Given the description of an element on the screen output the (x, y) to click on. 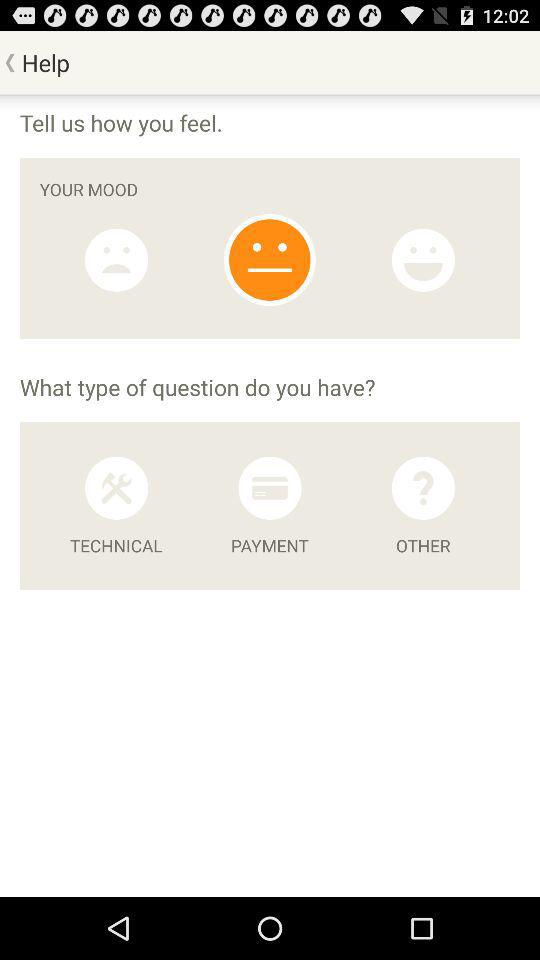
select question type payment (269, 488)
